Given the description of an element on the screen output the (x, y) to click on. 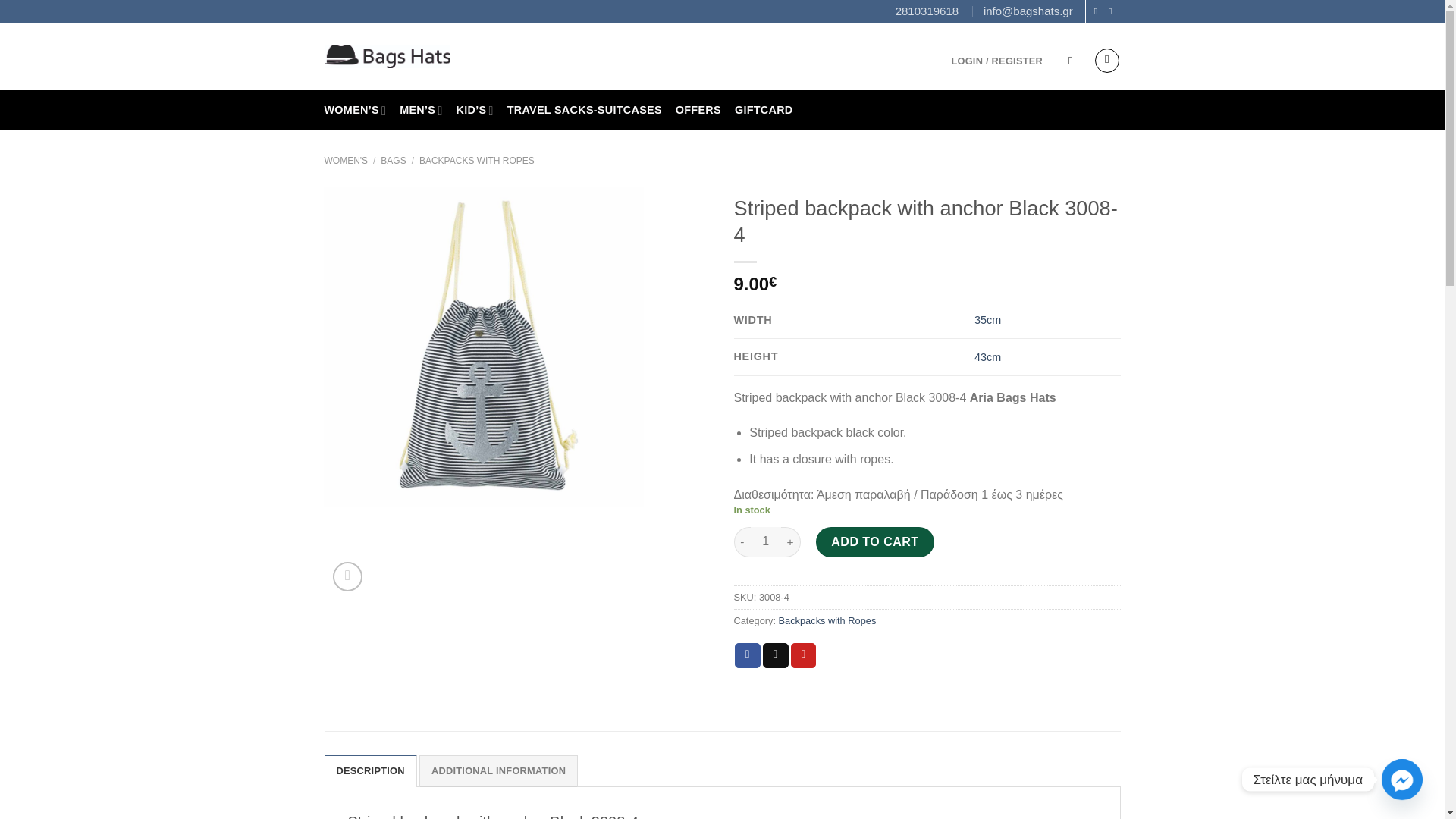
Share on Facebook (747, 655)
Zoom (347, 576)
Email to a Friend (775, 655)
Pin on Pinterest (803, 655)
Cart (1106, 60)
1 (765, 542)
3008-4 (483, 346)
2810319618 (926, 11)
